Given the description of an element on the screen output the (x, y) to click on. 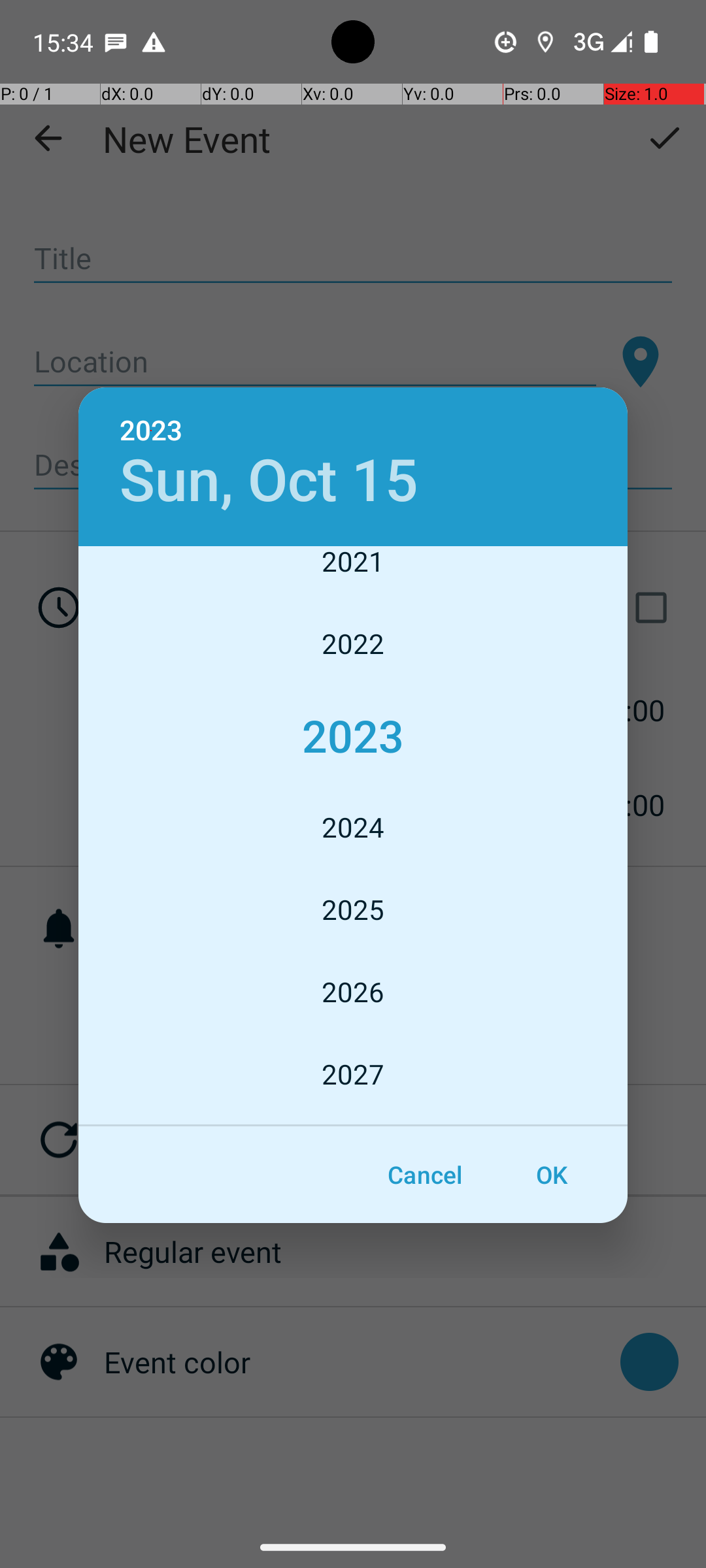
2021 Element type: android.widget.TextView (352, 574)
2025 Element type: android.widget.TextView (352, 909)
2026 Element type: android.widget.TextView (352, 991)
2027 Element type: android.widget.TextView (352, 1073)
2028 Element type: android.widget.TextView (352, 1120)
